Given the description of an element on the screen output the (x, y) to click on. 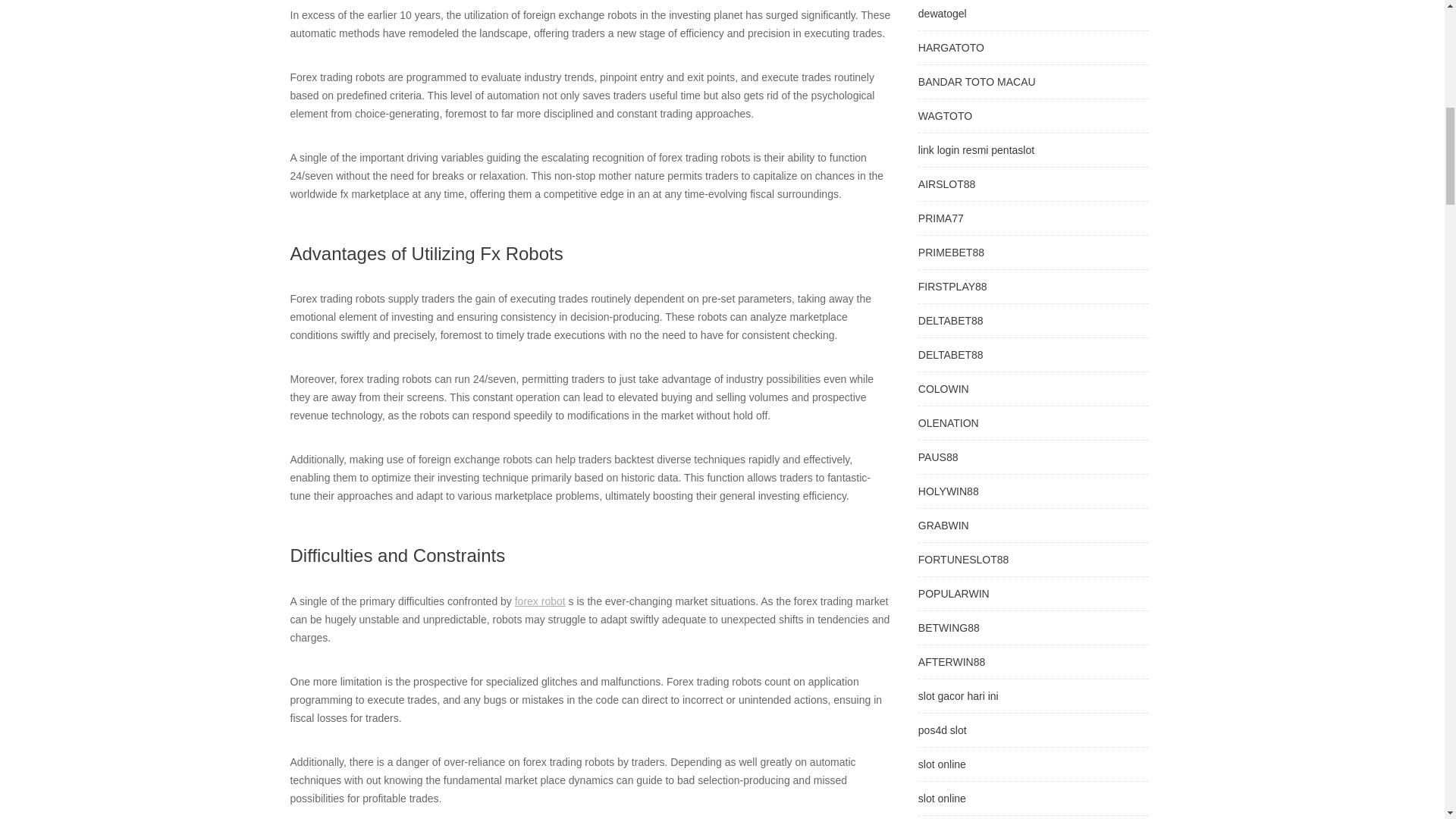
OLENATION (948, 422)
PRIMEBET88 (951, 252)
BANDAR TOTO MACAU (976, 81)
WAGTOTO (945, 115)
AIRSLOT88 (946, 184)
dewatogel (942, 13)
PAUS88 (938, 457)
COLOWIN (943, 388)
PRIMA77 (940, 218)
forex robot (540, 601)
link login resmi pentaslot (975, 150)
DELTABET88 (951, 320)
DELTABET88 (951, 354)
FIRSTPLAY88 (952, 286)
HARGATOTO (951, 47)
